Given the description of an element on the screen output the (x, y) to click on. 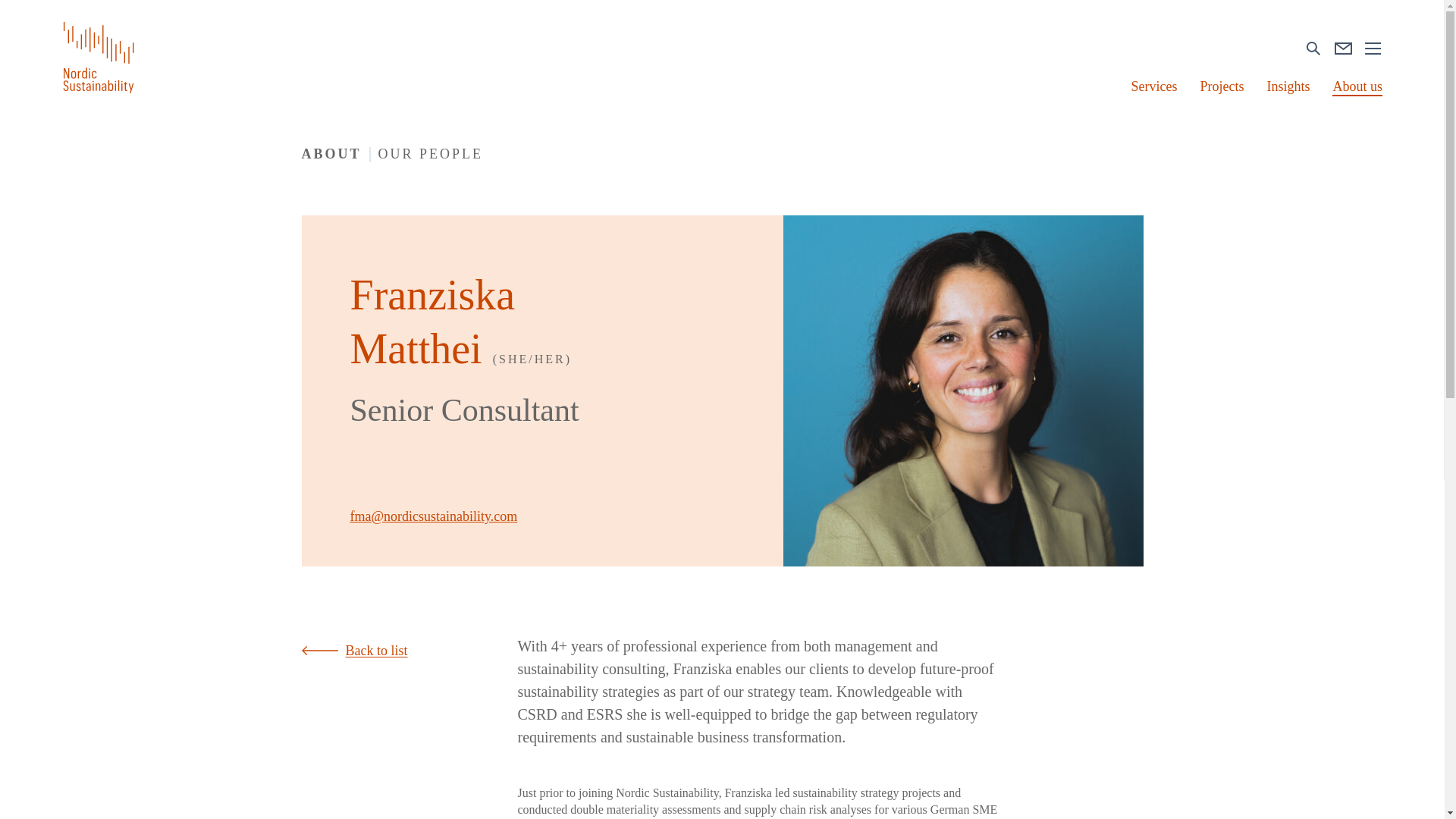
Projects (1221, 86)
About us (1356, 86)
Services (1153, 86)
Insights (1287, 86)
